Given the description of an element on the screen output the (x, y) to click on. 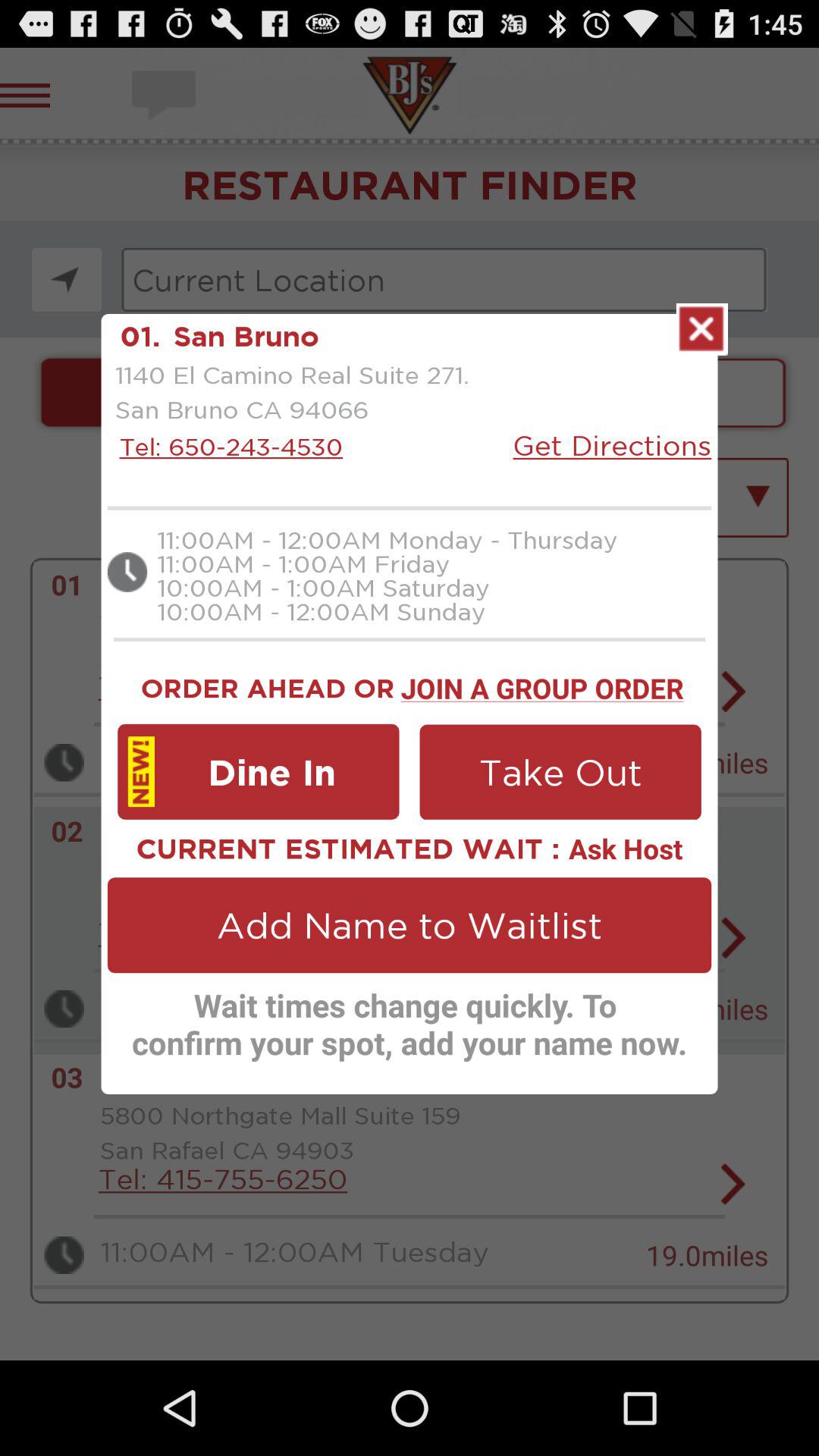
swipe until the tel 650 243 icon (226, 446)
